Given the description of an element on the screen output the (x, y) to click on. 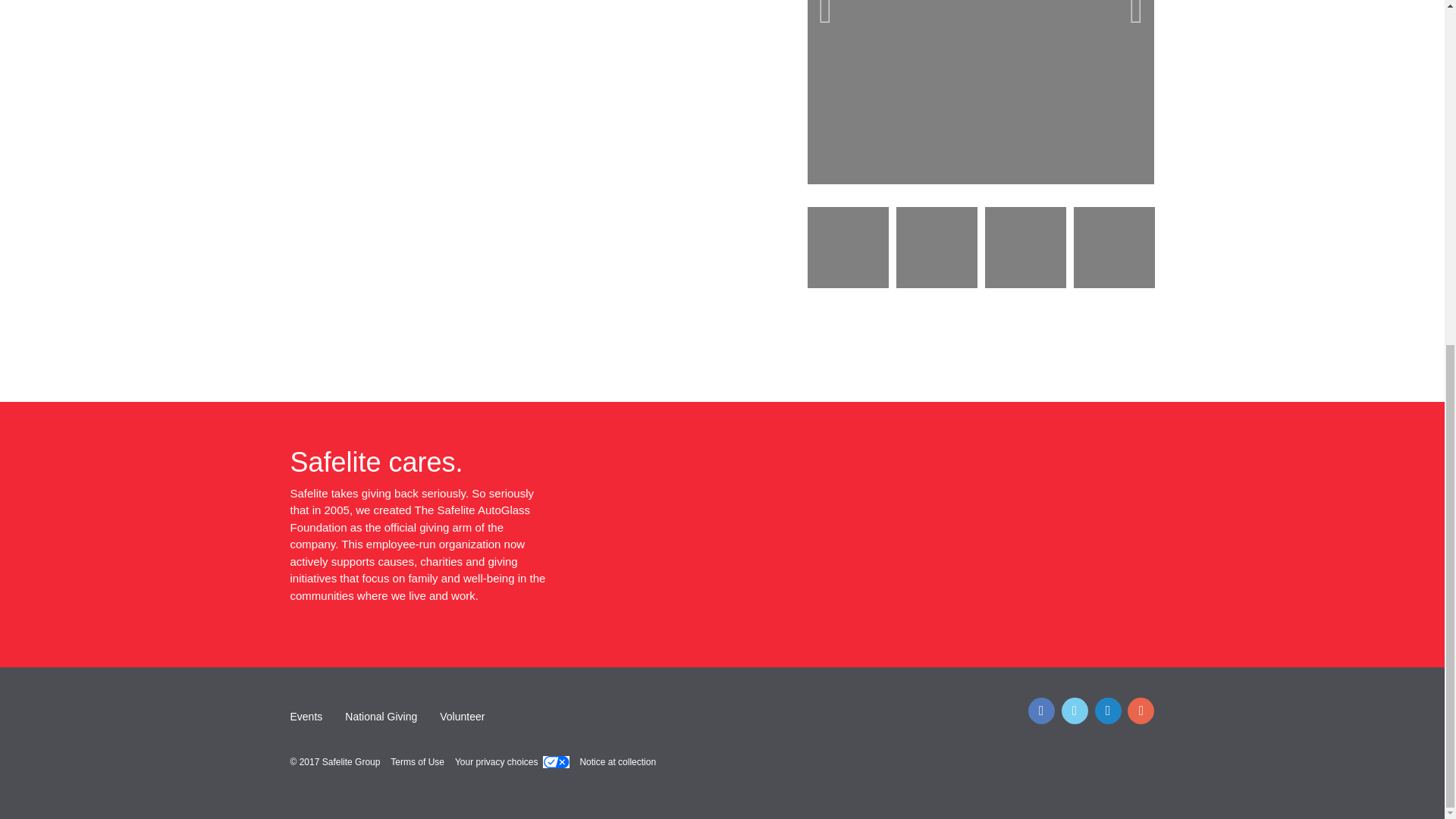
National Giving (380, 716)
Notice at collection (617, 761)
Volunteer (462, 716)
Events (311, 716)
Terms of Use (417, 761)
National Giving (380, 716)
Events (311, 716)
Volunteer (462, 716)
Your privacy choices (511, 762)
